Given the description of an element on the screen output the (x, y) to click on. 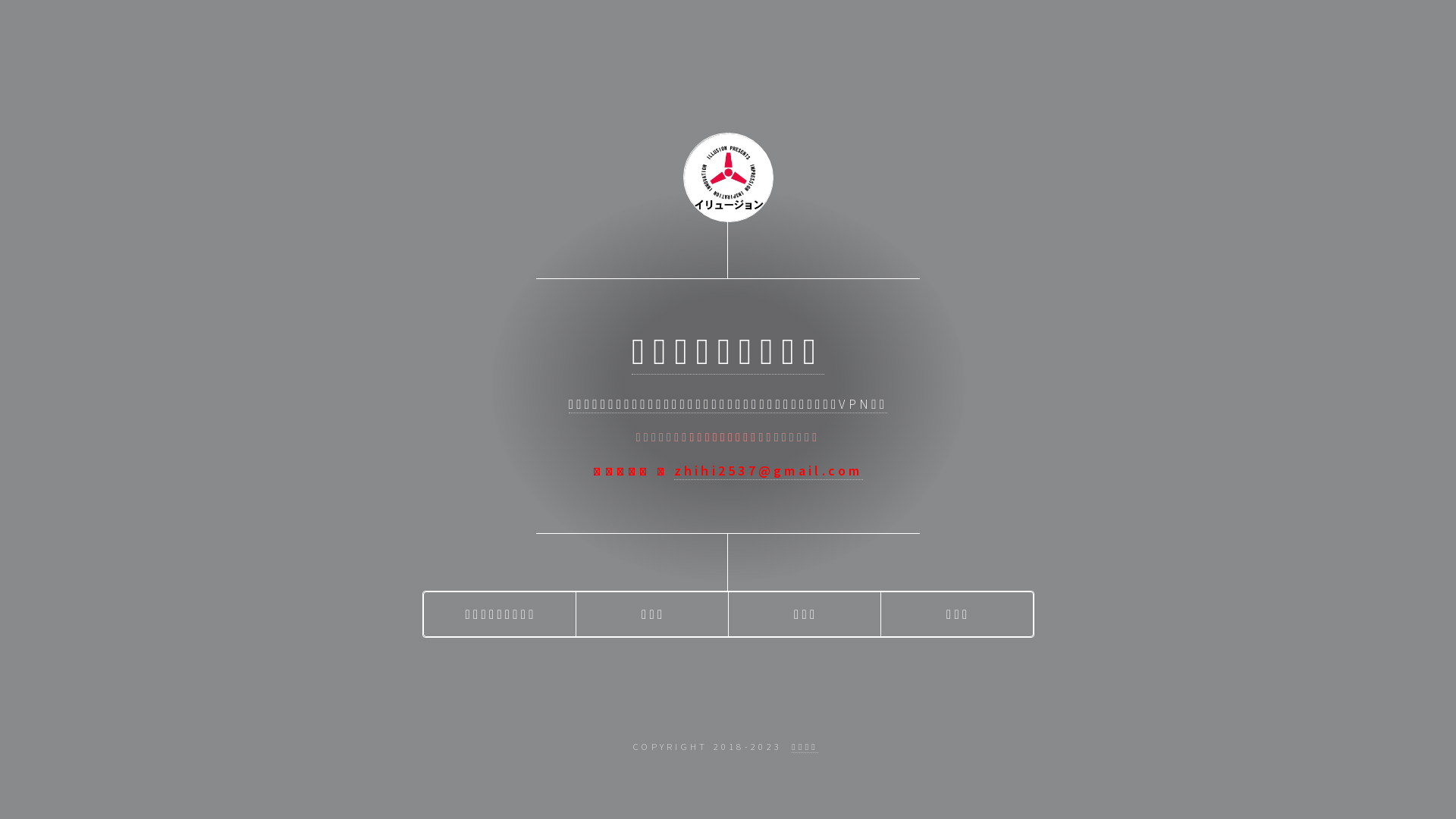
zhihi2537@gmail.com Element type: text (768, 470)
